Given the description of an element on the screen output the (x, y) to click on. 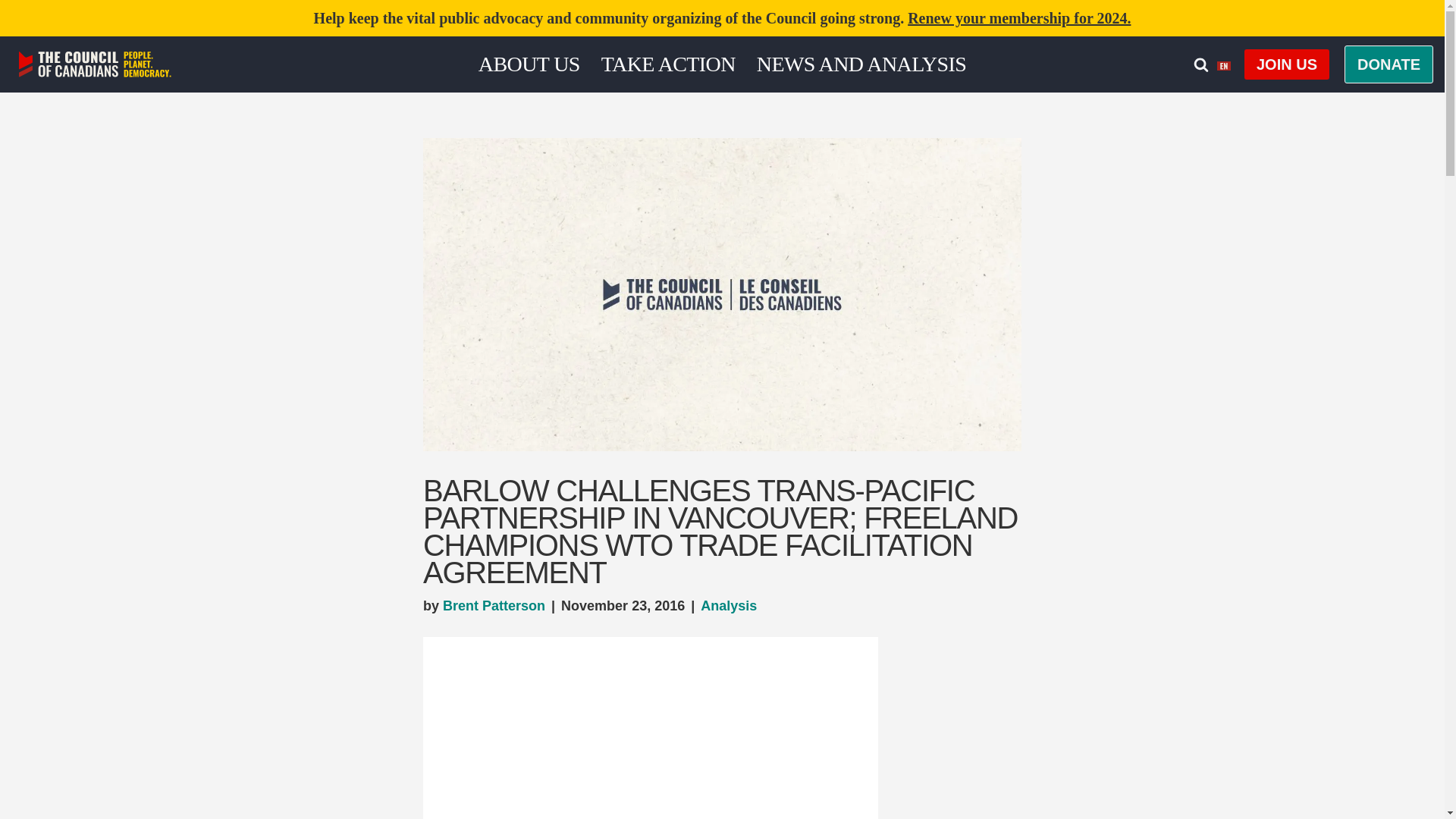
ABOUT US (529, 63)
JOIN US (1286, 64)
DONATE (1387, 64)
Skip to content (11, 31)
Posts by Brent Patterson (493, 605)
Brent Patterson (493, 605)
NEWS AND ANALYSIS (861, 63)
Analysis (728, 605)
Renew your membership for 2024. (1019, 17)
TAKE ACTION (668, 63)
